Given the description of an element on the screen output the (x, y) to click on. 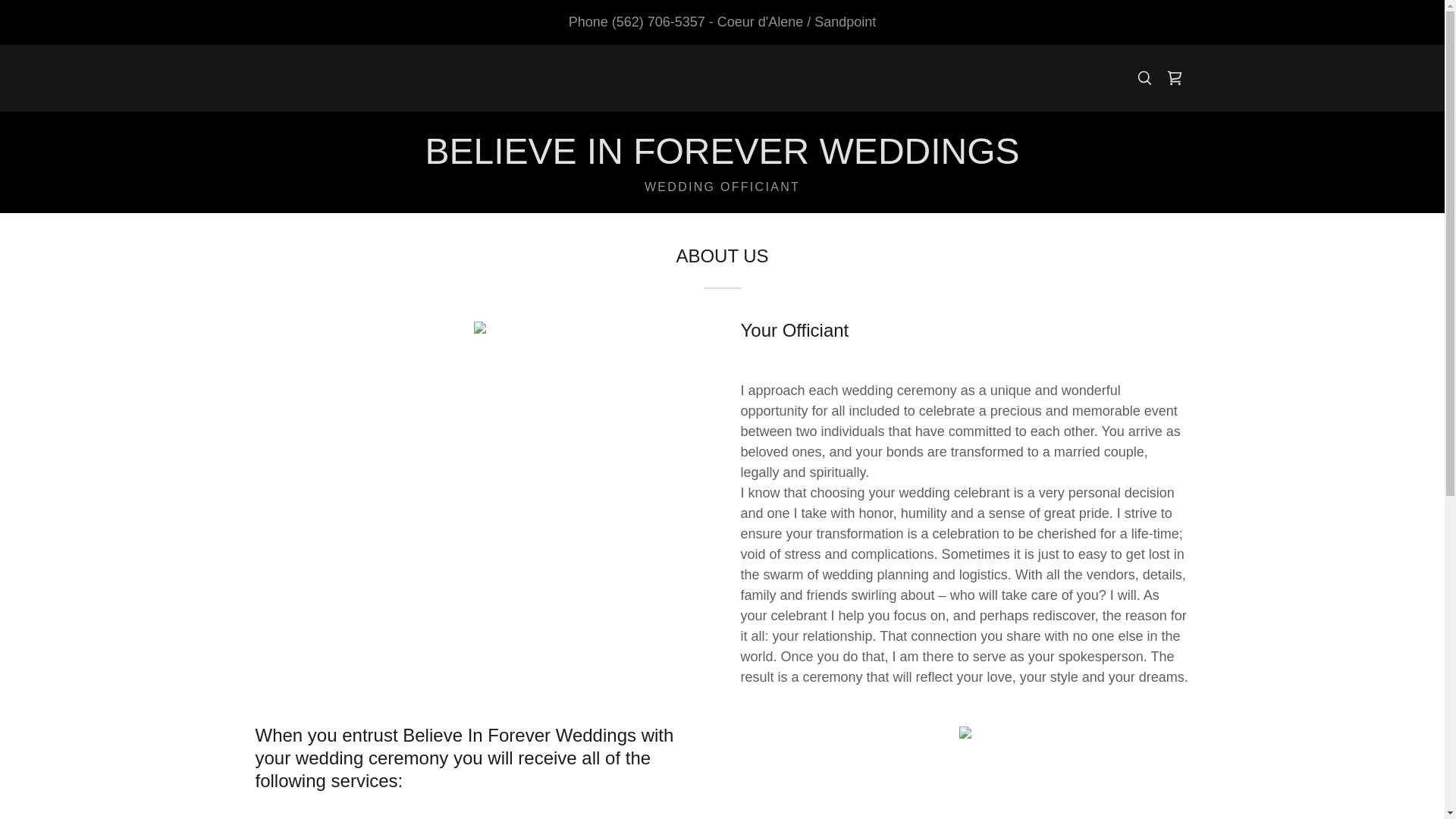
BELIEVE IN FOREVER WEDDINGS (722, 159)
Believe In Forever Weddings (722, 159)
